Given the description of an element on the screen output the (x, y) to click on. 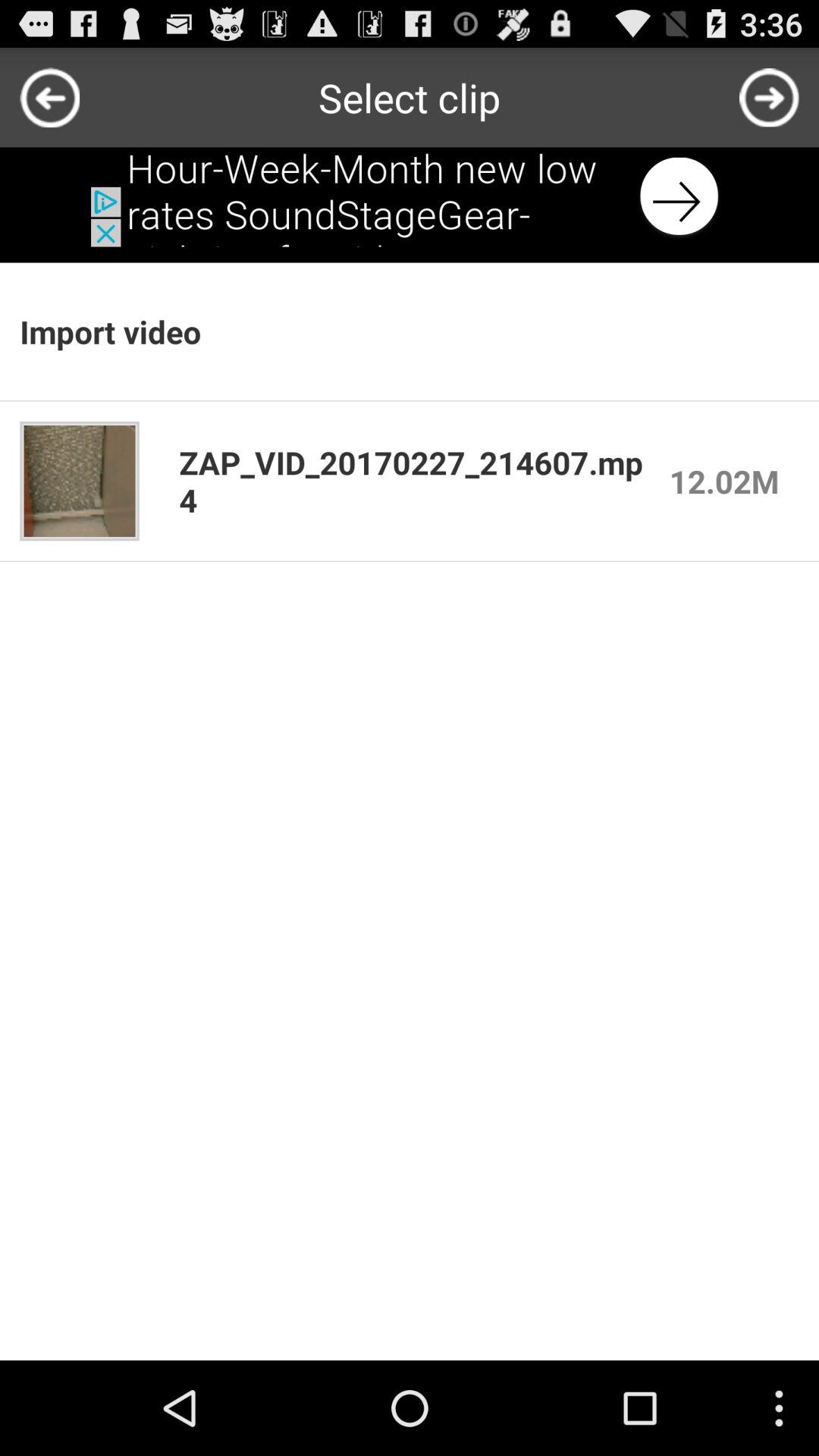
back the option (409, 196)
